Given the description of an element on the screen output the (x, y) to click on. 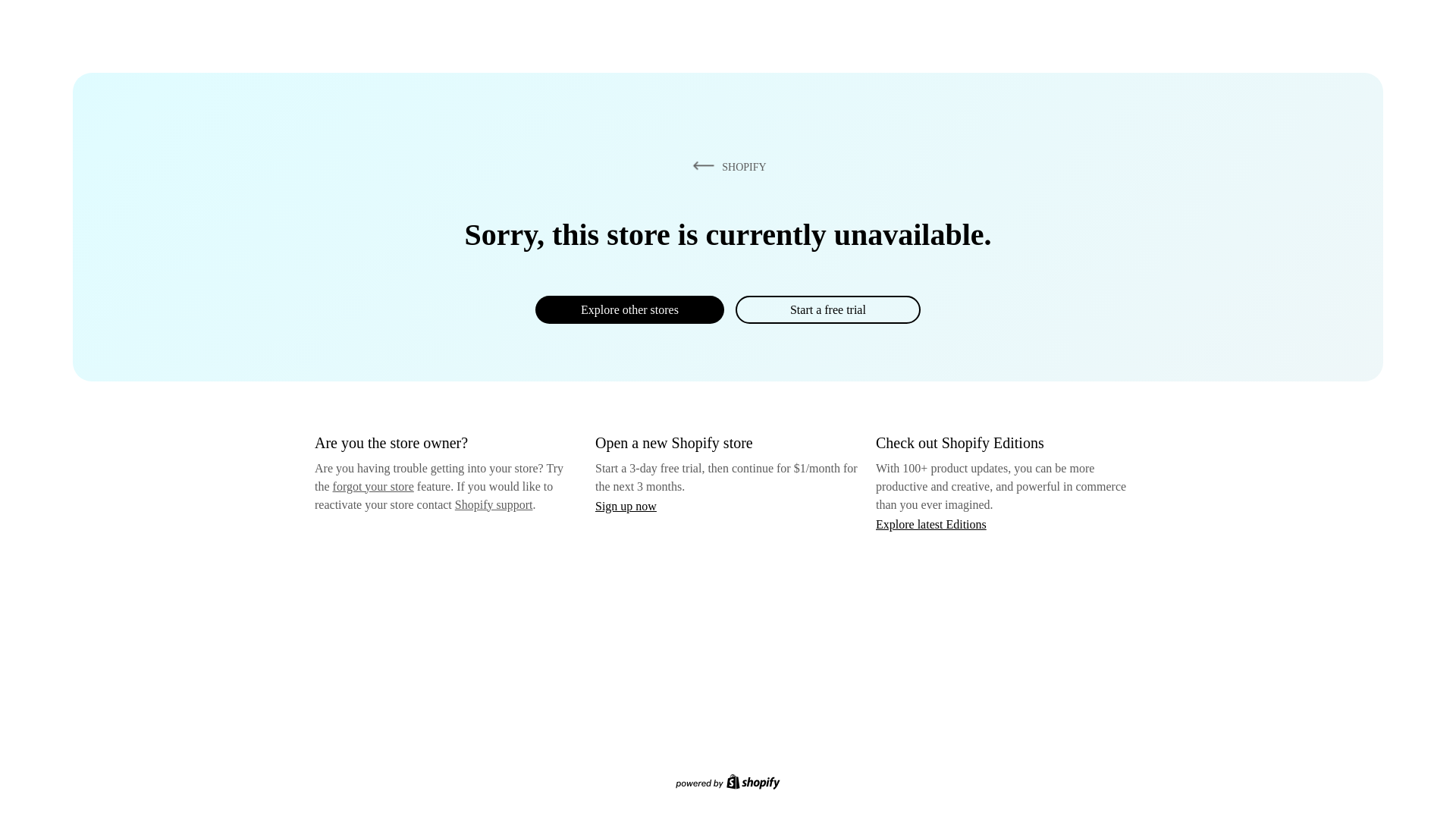
Explore latest Editions (931, 523)
forgot your store (373, 486)
Sign up now (625, 505)
Start a free trial (827, 309)
Shopify support (493, 504)
SHOPIFY (726, 166)
Explore other stores (629, 309)
